Given the description of an element on the screen output the (x, y) to click on. 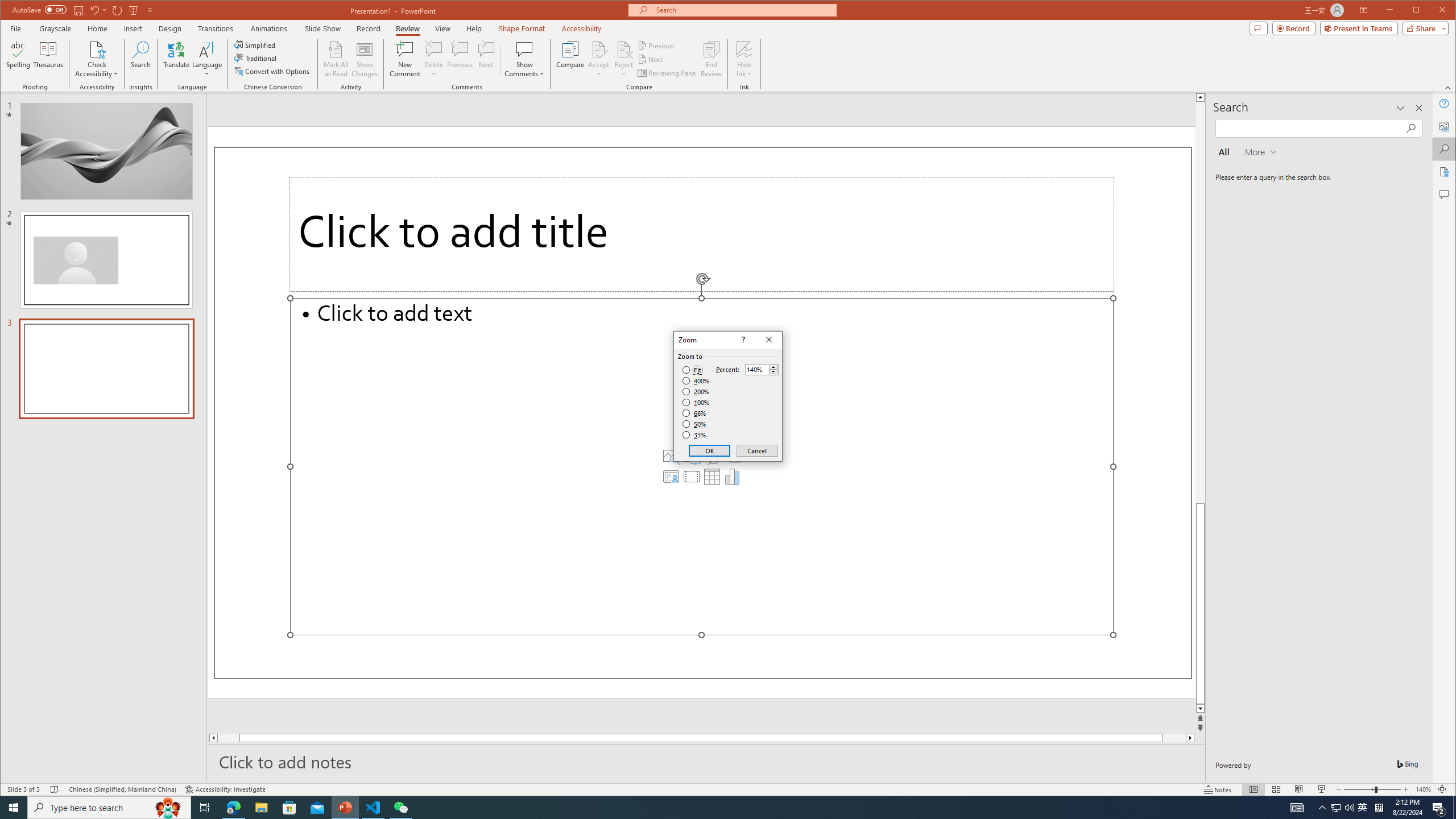
Reject Change (623, 48)
Accept (598, 59)
